Given the description of an element on the screen output the (x, y) to click on. 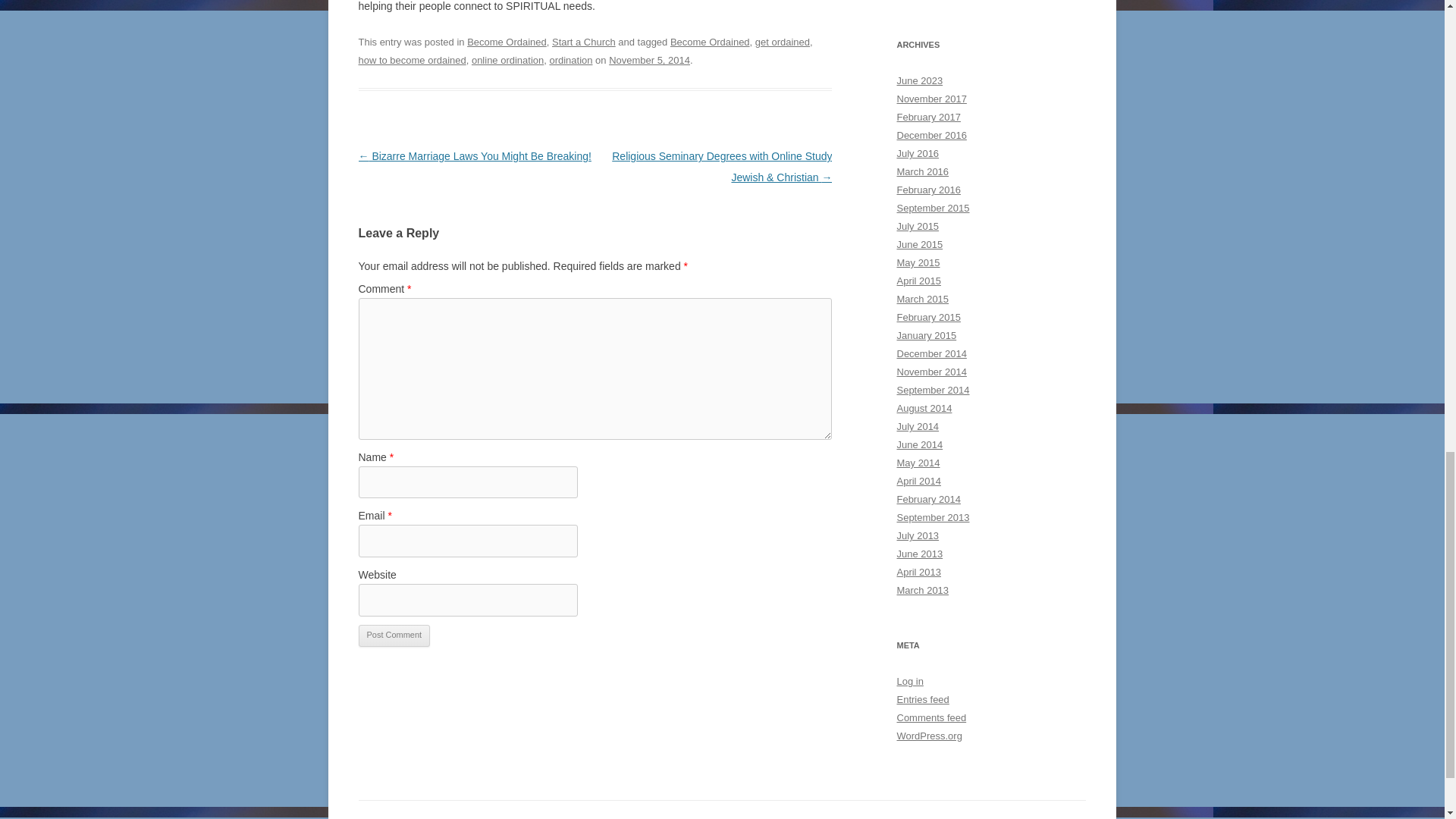
ordination (570, 60)
Post Comment (393, 635)
1:53 pm (649, 60)
online ordination (507, 60)
Post Comment (393, 635)
Become Ordained (709, 41)
Become Ordained (507, 41)
get ordained (782, 41)
how to become ordained (411, 60)
Start a Church (583, 41)
November 5, 2014 (649, 60)
